Given the description of an element on the screen output the (x, y) to click on. 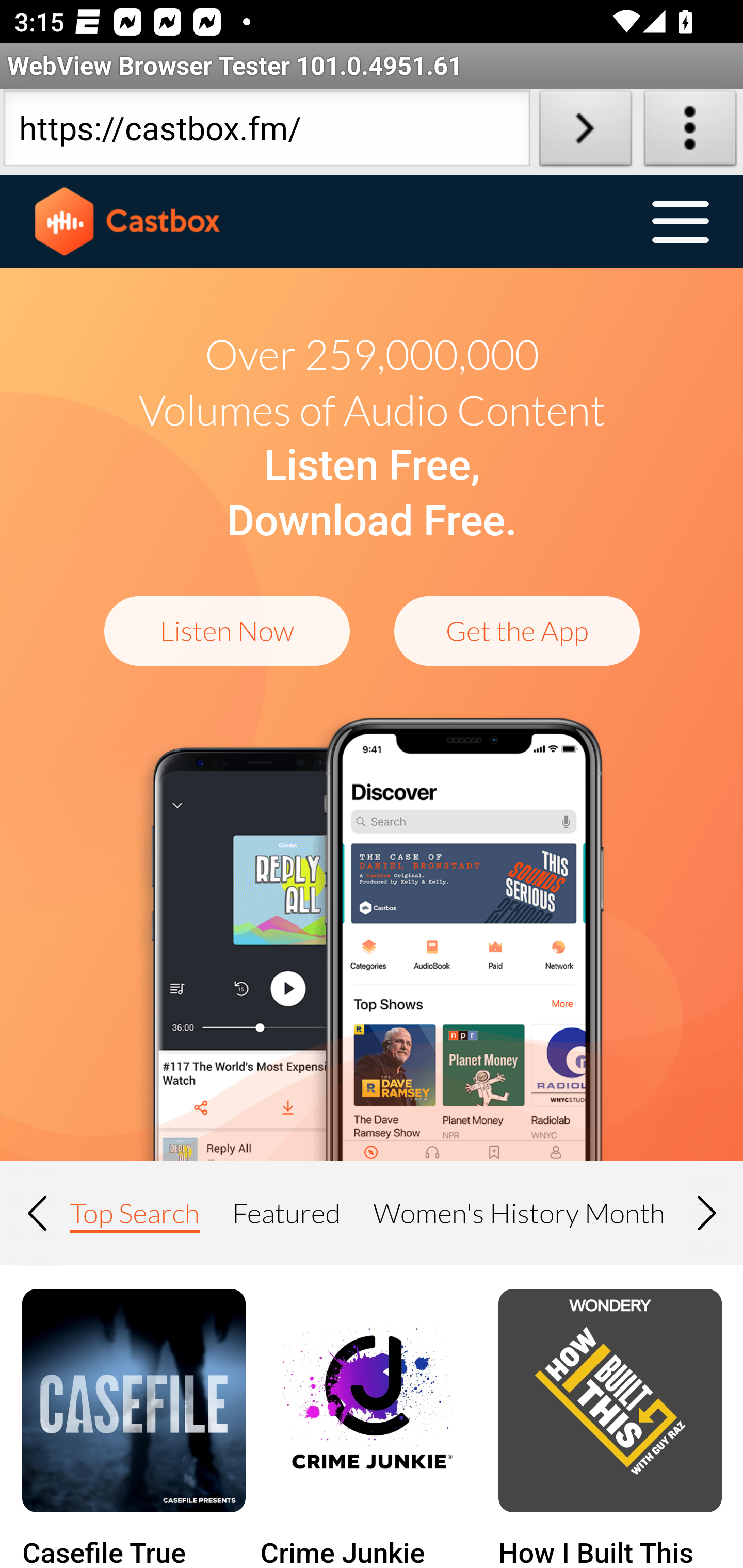
https://castbox.fm/ (266, 132)
Load URL (585, 132)
About WebView (690, 132)
Castbox (128, 222)
menu (679, 222)
Listen Now (226, 630)
Get the App (517, 630)
Casefile True Crime (133, 1402)
Crime Junkie (371, 1402)
How I Built This with Guy Raz (610, 1402)
Crime Junkie Crime Junkie Crime Junkie (371, 1551)
